Given the description of an element on the screen output the (x, y) to click on. 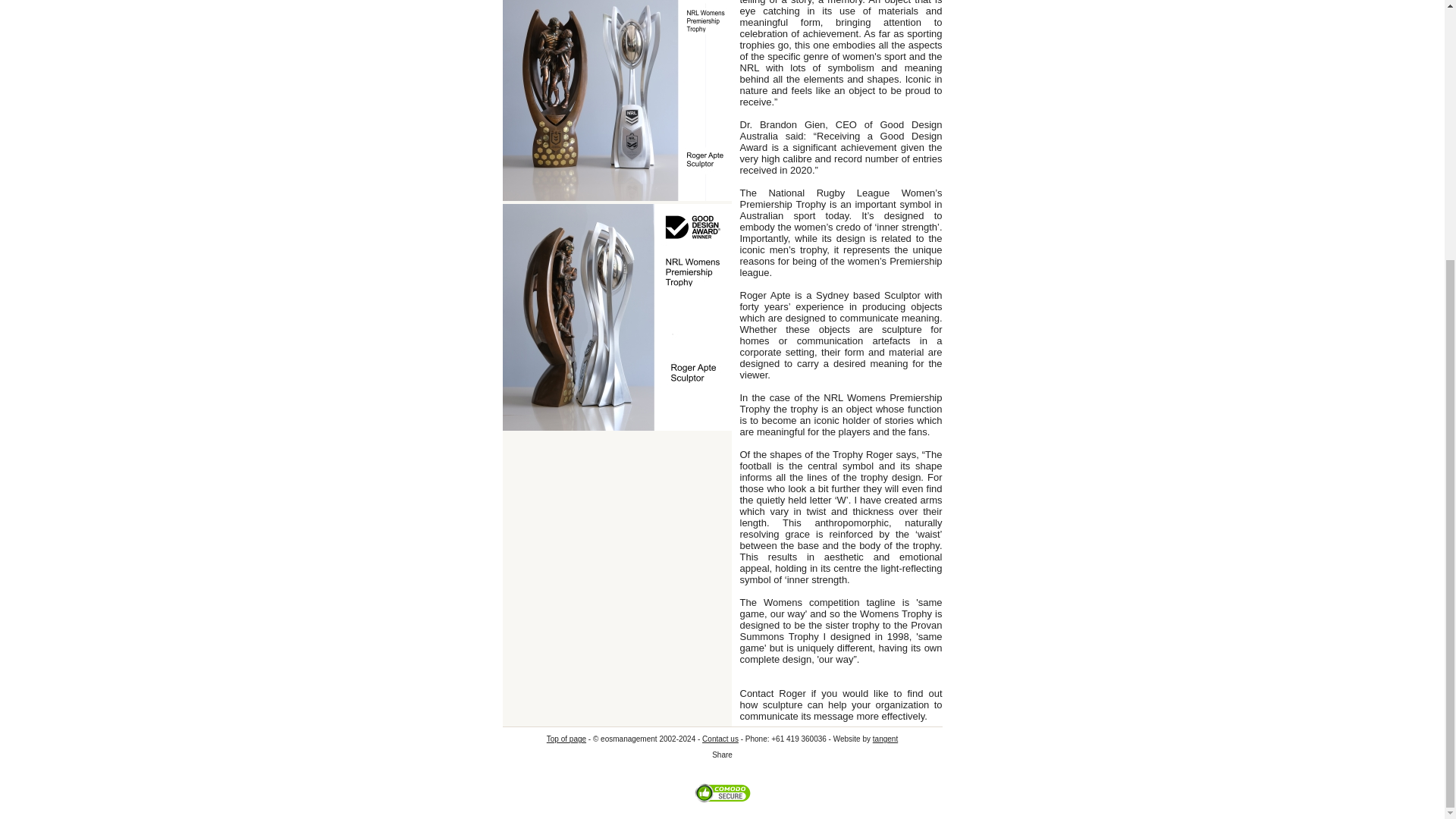
Contact us (719, 738)
Top of page (566, 738)
tangent (885, 738)
Share (721, 755)
